Given the description of an element on the screen output the (x, y) to click on. 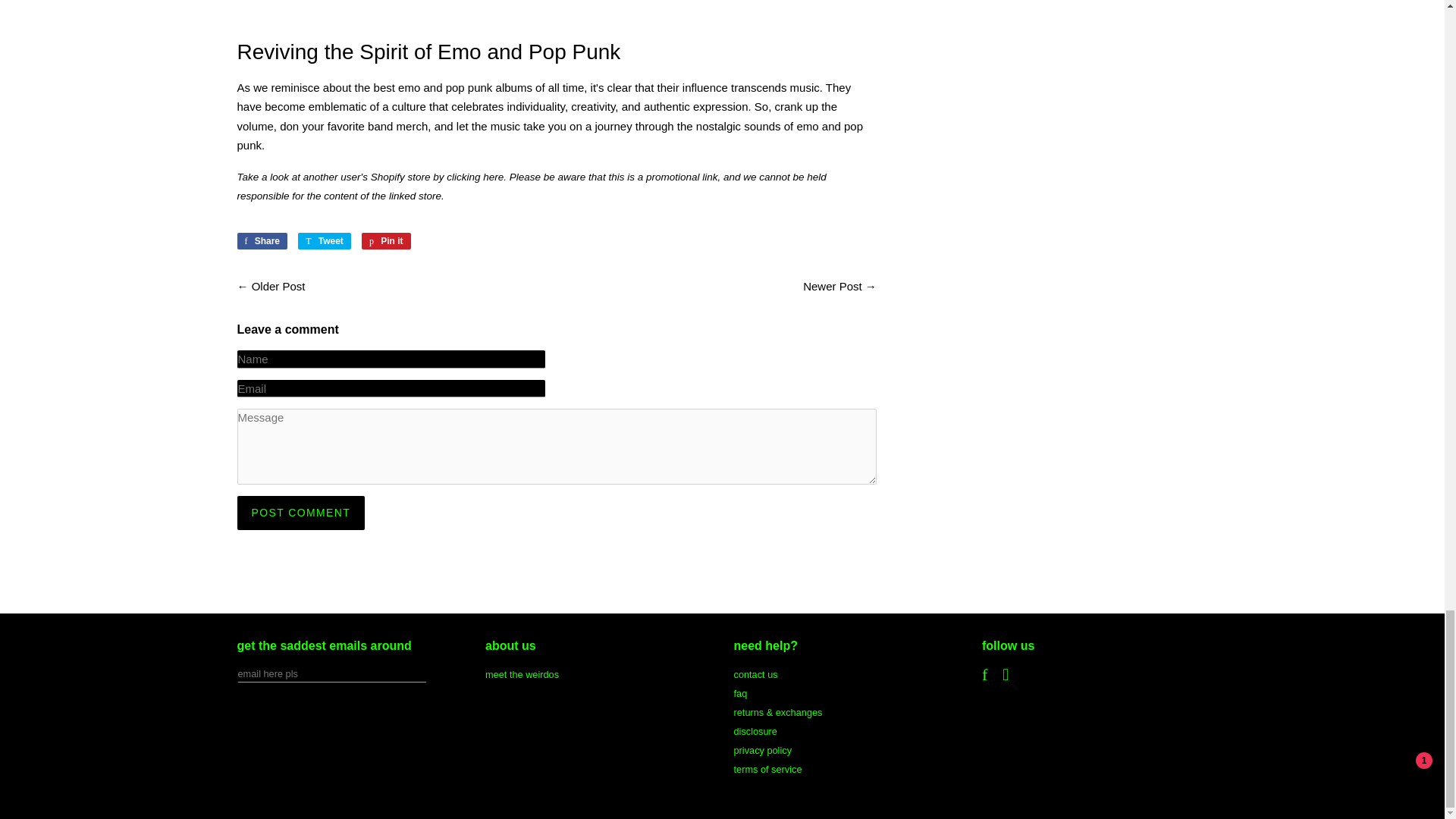
here (260, 240)
Post comment (493, 176)
Pin on Pinterest (300, 512)
Older Post (385, 240)
Post comment (324, 240)
Tweet on Twitter (278, 286)
Newer Post (300, 512)
Share on Facebook (385, 240)
